Given the description of an element on the screen output the (x, y) to click on. 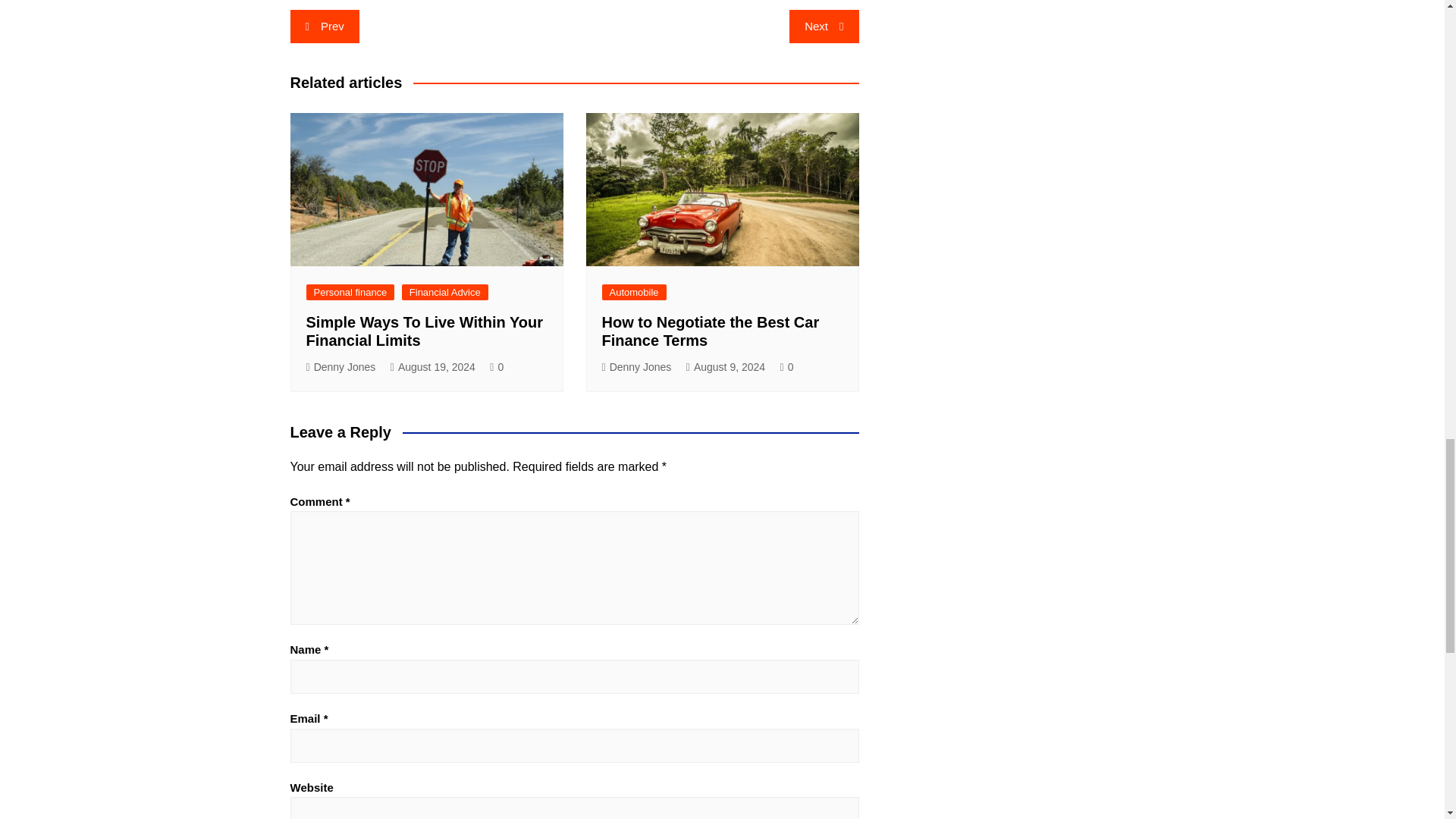
Prev (323, 26)
Personal finance (349, 292)
Next (824, 26)
